Given the description of an element on the screen output the (x, y) to click on. 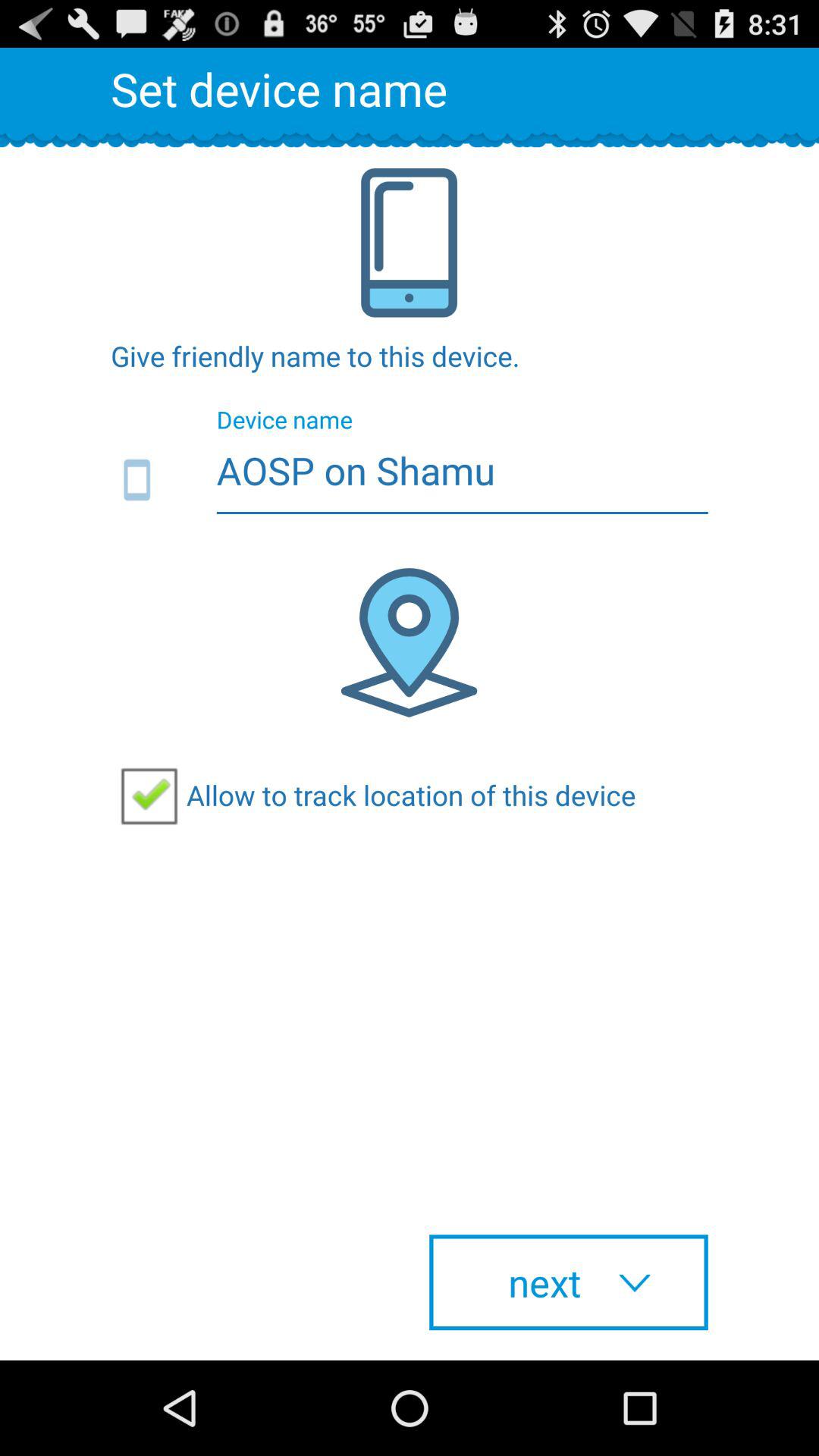
flip to aosp on shamu icon (409, 480)
